Given the description of an element on the screen output the (x, y) to click on. 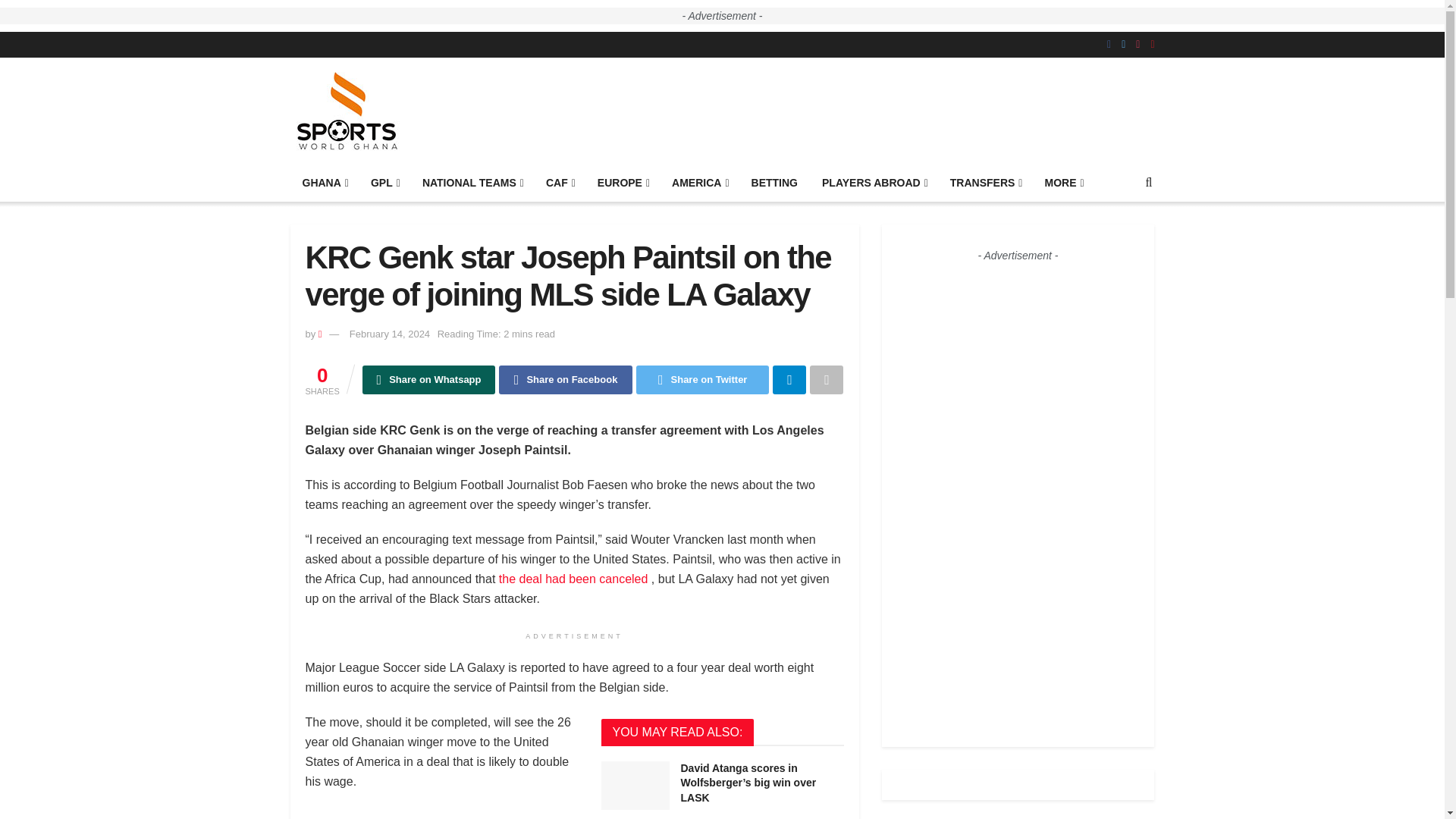
NATIONAL TEAMS (472, 182)
GHANA (323, 182)
GPL (384, 182)
